Given the description of an element on the screen output the (x, y) to click on. 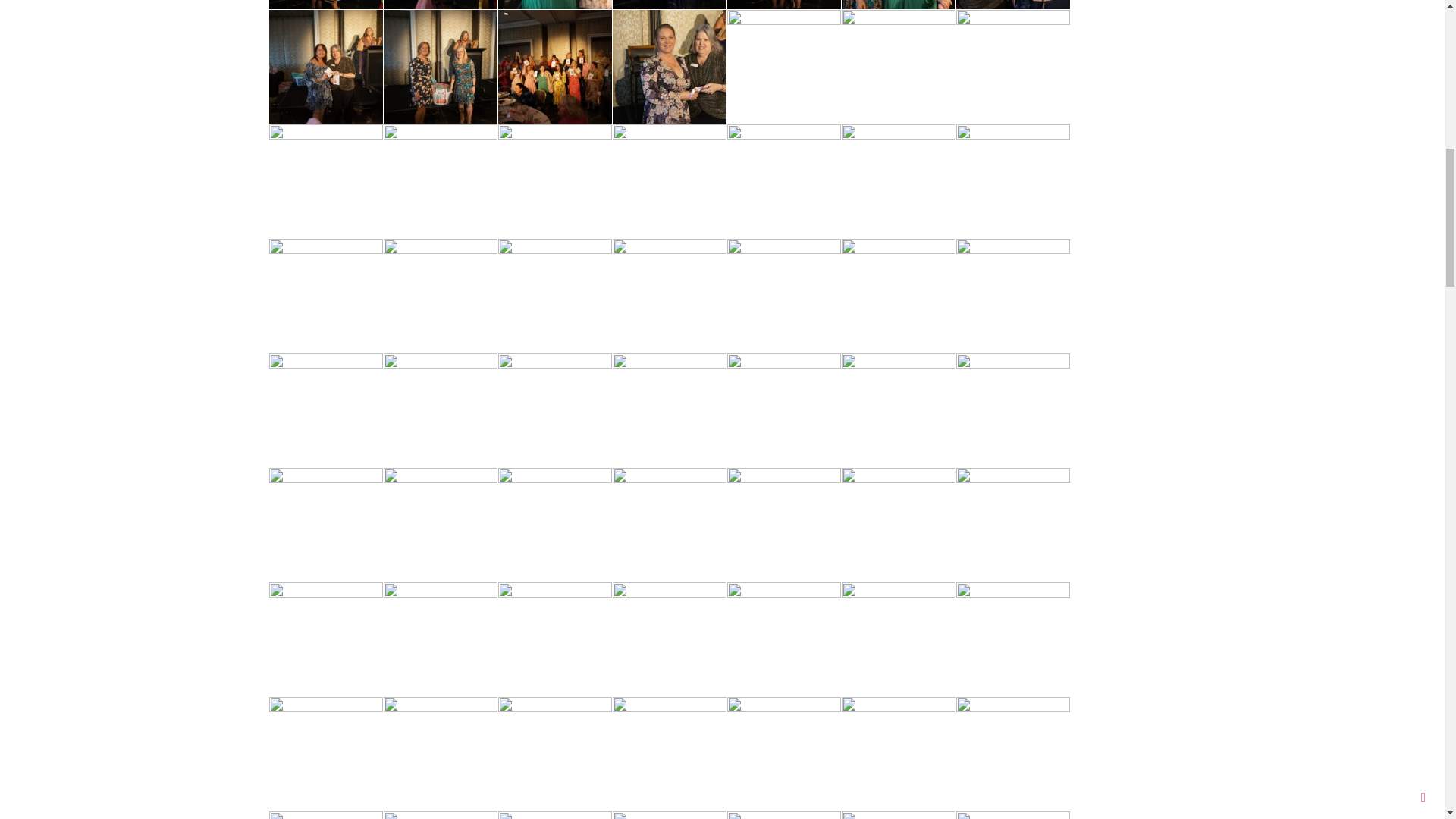
3368D603-9982-4355-B8AB-4D1497D7105D (440, 4)
9302C3E7-24D8-4DF0-88B9-5B9009C1C1A3 (325, 4)
6258D7BB-E391-49EB-ACBA-A7A68A703E98 (554, 4)
